Given the description of an element on the screen output the (x, y) to click on. 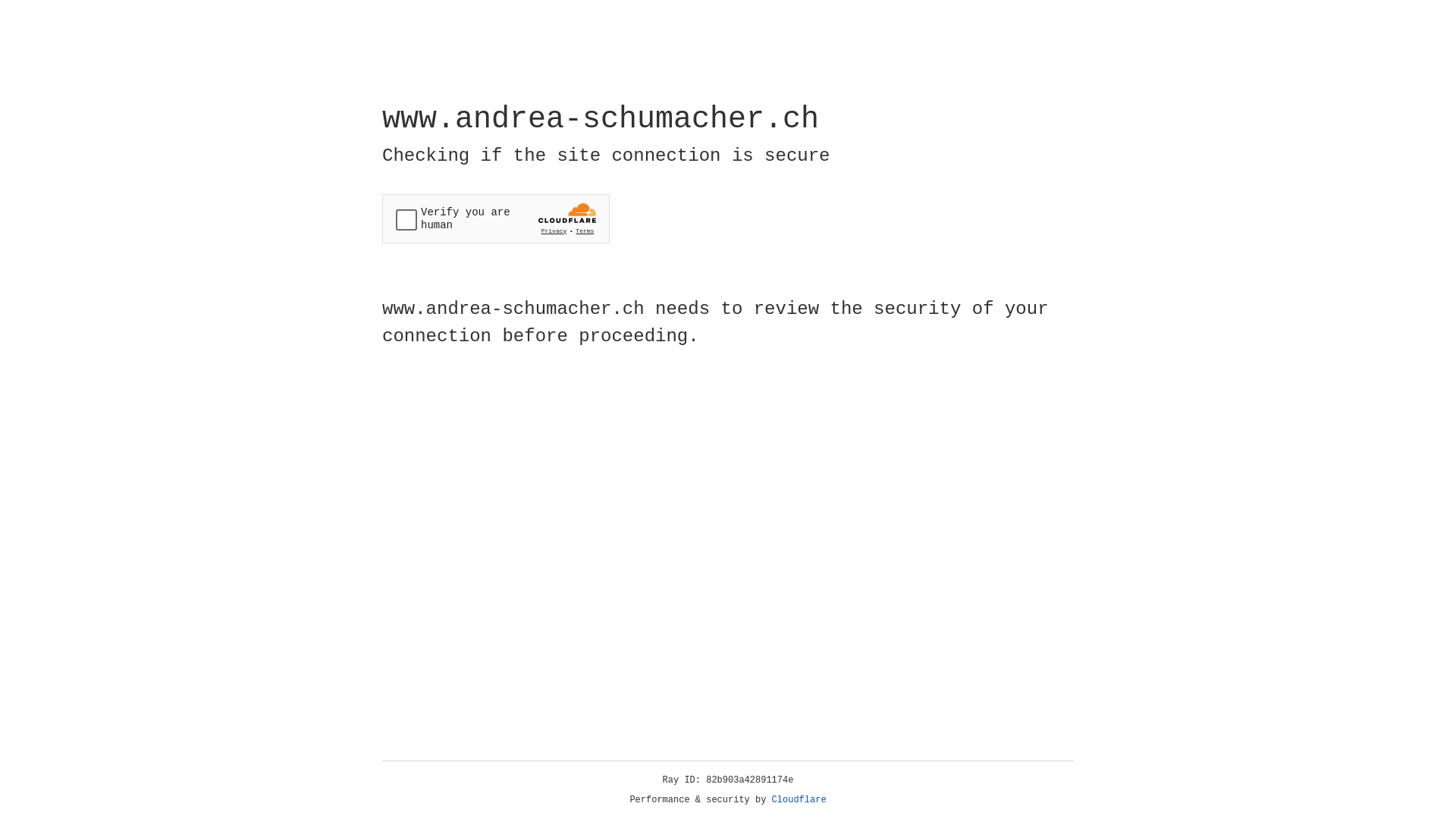
Widget containing a Cloudflare security challenge Element type: hover (495, 218)
Cloudflare Element type: text (798, 799)
